Given the description of an element on the screen output the (x, y) to click on. 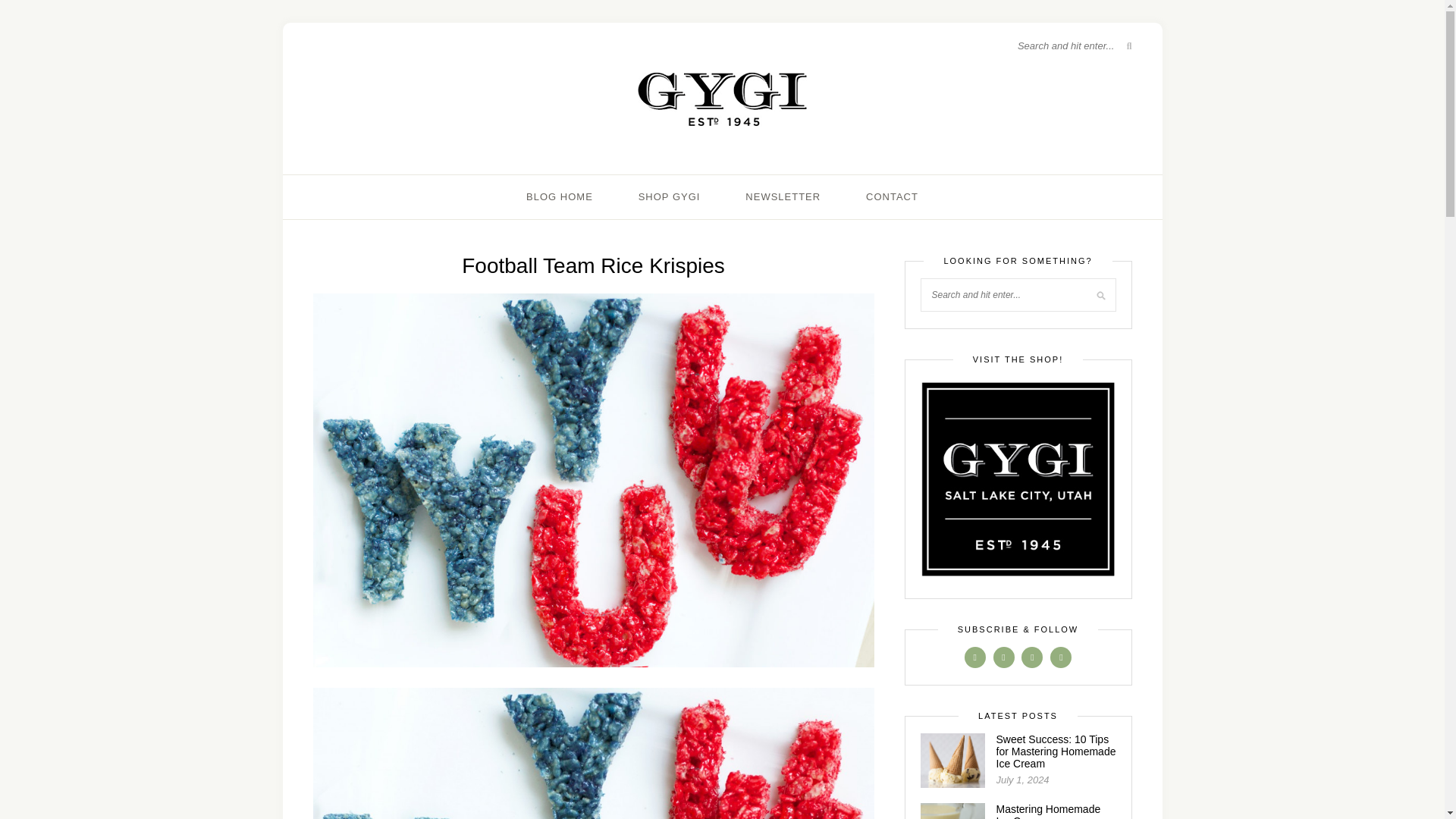
CONTACT (892, 197)
Sweet Success: 10 Tips for Mastering Homemade Ice Cream (1055, 751)
NEWSLETTER (783, 197)
Mastering Homemade Ice Cream (1047, 811)
Gygi Shop (1018, 479)
SHOP GYGI (669, 197)
BLOG HOME (558, 197)
